Given the description of an element on the screen output the (x, y) to click on. 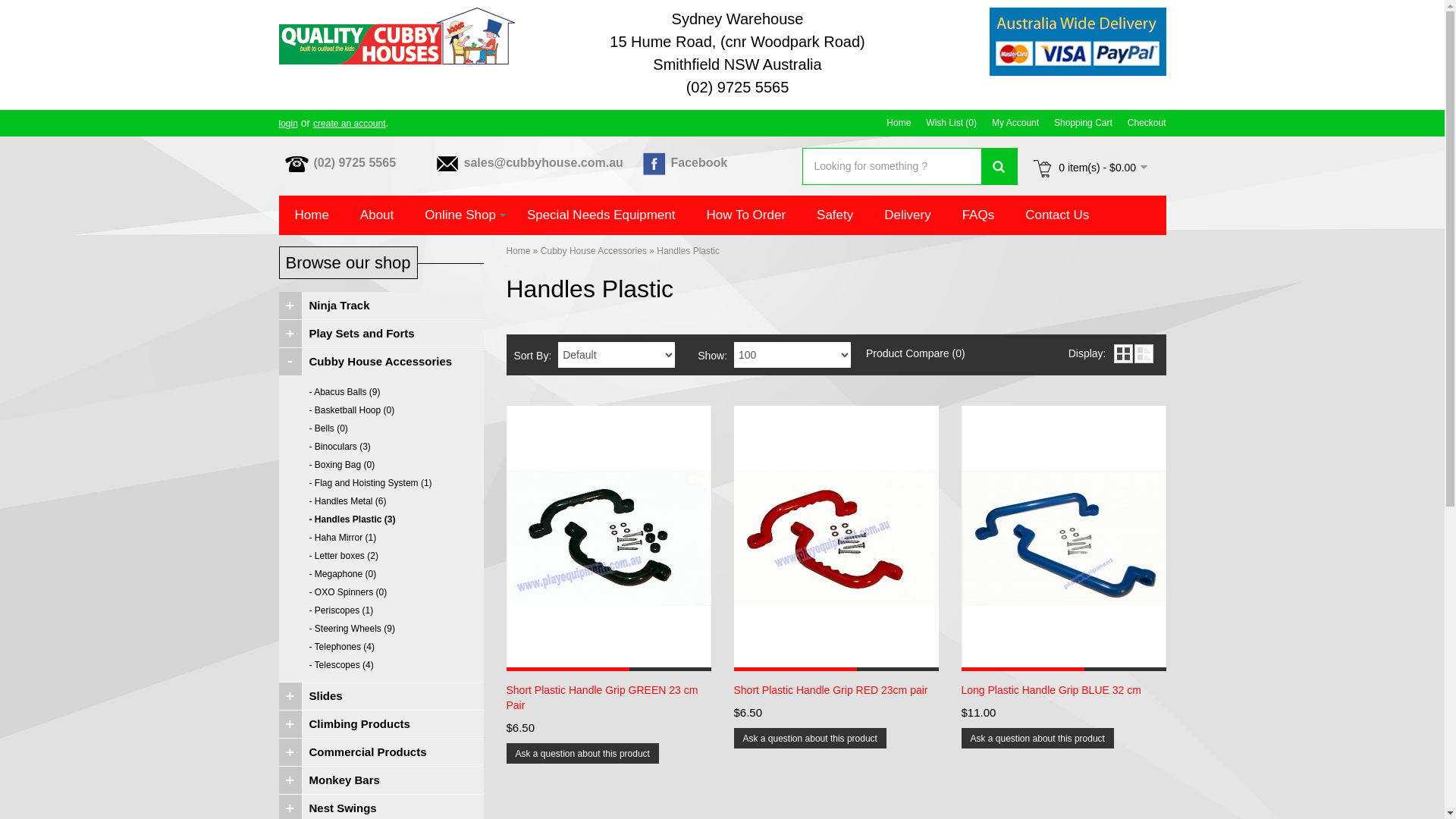
Shopping Cart Element type: text (1083, 122)
- Periscopes (1) Element type: text (381, 610)
Monkey Bars Element type: text (381, 779)
login Element type: text (288, 123)
Handles Plastic Element type: text (687, 250)
- Boxing Bag (0) Element type: text (381, 464)
Ask a question about this product Element type: text (582, 753)
- Megaphone (0) Element type: text (381, 573)
List Element type: hover (1143, 353)
0 item(s) - $0.00 Element type: text (1090, 167)
Cubby House Accessories Element type: text (593, 250)
Contact Us Element type: text (1057, 215)
Short Plastic Handle Grip RED 23cm pair Element type: hover (836, 538)
Home Element type: text (898, 122)
Add to Wish List Element type: hover (649, 686)
- Letter boxes (2) Element type: text (381, 555)
- Bells (0) Element type: text (381, 428)
Add to Compare Element type: hover (1145, 686)
Cubby House Accessories Element type: text (381, 361)
Facebook Element type: text (738, 165)
How To Order Element type: text (746, 215)
- Abacus Balls (9) Element type: text (381, 391)
- Handles Metal (6) Element type: text (381, 501)
FAQs Element type: text (978, 215)
Safety Element type: text (835, 215)
Add to Cart Element type: text (1022, 686)
Home Element type: text (518, 250)
- Basketball Hoop (0) Element type: text (381, 410)
- OXO Spinners (0) Element type: text (381, 592)
Add to Compare Element type: hover (690, 686)
My Account Element type: text (1014, 122)
Commercial Products Element type: text (381, 751)
create an account Element type: text (349, 123)
Add to Wish List Element type: hover (876, 686)
Short Plastic Handle Grip GREEN 23 cm Pair Element type: text (608, 697)
- Telephones (4) Element type: text (381, 646)
Add to Wish List Element type: hover (1104, 686)
- Telescopes (4) Element type: text (381, 664)
Play Sets and Forts Element type: text (381, 333)
Product Compare (0) Element type: text (915, 353)
- Flag and Hoisting System (1) Element type: text (381, 482)
Checkout Element type: text (1146, 122)
Short Plastic Handle Grip RED 23cm pair Element type: text (836, 689)
Add to Cart Element type: text (567, 686)
Ask a question about this product Element type: text (810, 738)
Home Element type: text (311, 215)
Delivery Element type: text (907, 215)
sales@cubbyhouse.com.au Element type: text (560, 165)
- Haha Mirror (1) Element type: text (381, 537)
Add to Cart Element type: text (795, 686)
Add to Compare Element type: hover (917, 686)
Special Needs Equipment Element type: text (601, 215)
About Element type: text (377, 215)
Ninja Track Element type: text (381, 305)
Long Plastic Handle Grip BLUE 32 cm  Element type: hover (1063, 538)
Climbing Products Element type: text (381, 723)
Short Plastic Handle Grip GREEN 23 cm Pair Element type: hover (608, 538)
- Handles Plastic (3) Element type: text (381, 519)
Online Shop Element type: text (460, 215)
Quality Cubby Houses Element type: hover (396, 35)
Slides Element type: text (381, 695)
Wish List (0) Element type: text (950, 122)
- Binoculars (3) Element type: text (381, 446)
Long Plastic Handle Grip BLUE 32 cm Element type: text (1063, 689)
- Steering Wheels (9) Element type: text (381, 628)
Ask a question about this product Element type: text (1037, 738)
